Given the description of an element on the screen output the (x, y) to click on. 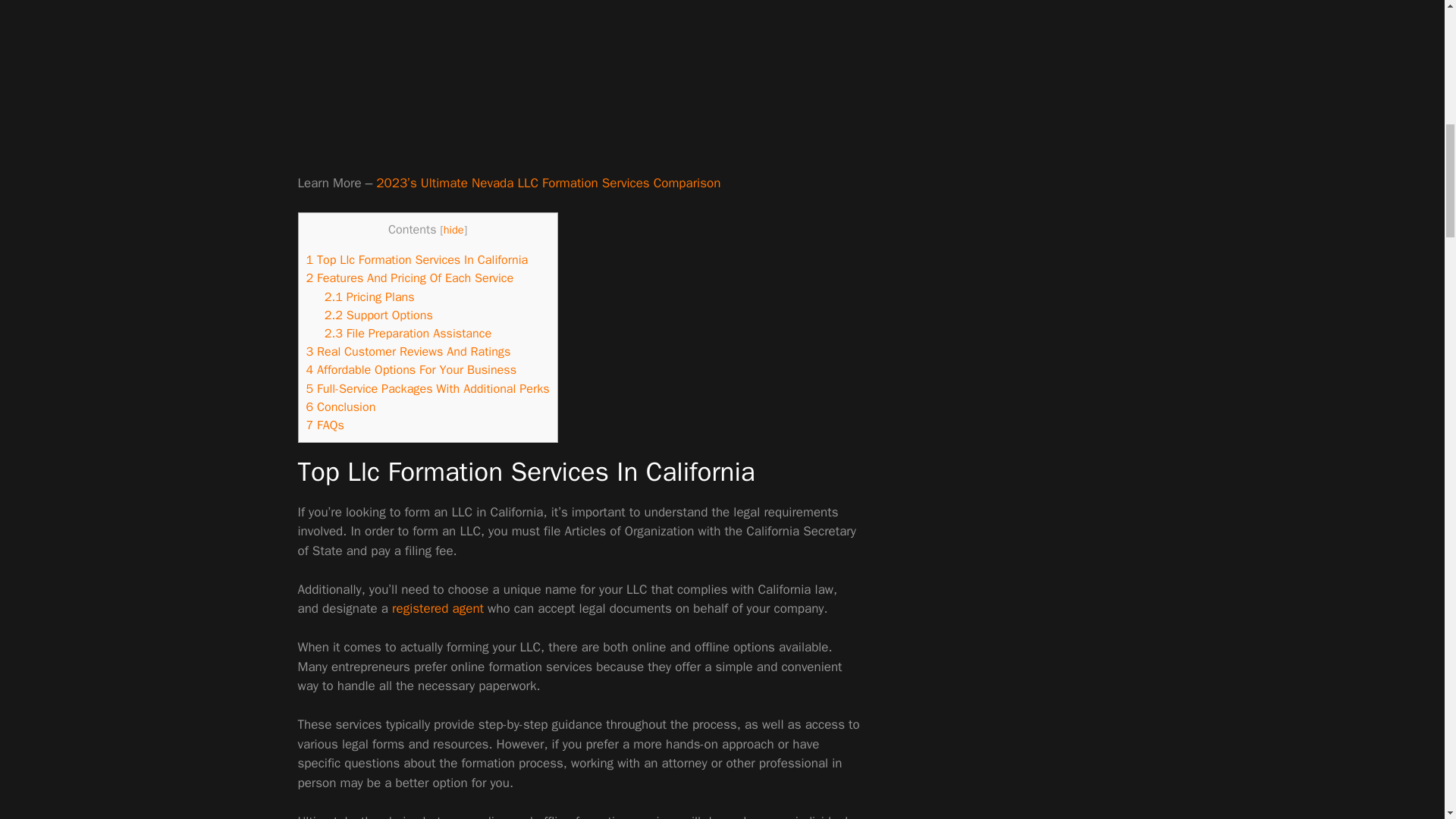
registered agent (437, 608)
hide (454, 229)
7 FAQs (324, 424)
1 Top Llc Formation Services In California (416, 259)
5 Full-Service Packages With Additional Perks (427, 388)
2.2 Support Options (378, 314)
2.3 File Preparation Assistance (408, 333)
4 Affordable Options For Your Business (410, 369)
The Top 2023 Registered Agent Services to Consider (437, 608)
6 Conclusion (340, 406)
